Given the description of an element on the screen output the (x, y) to click on. 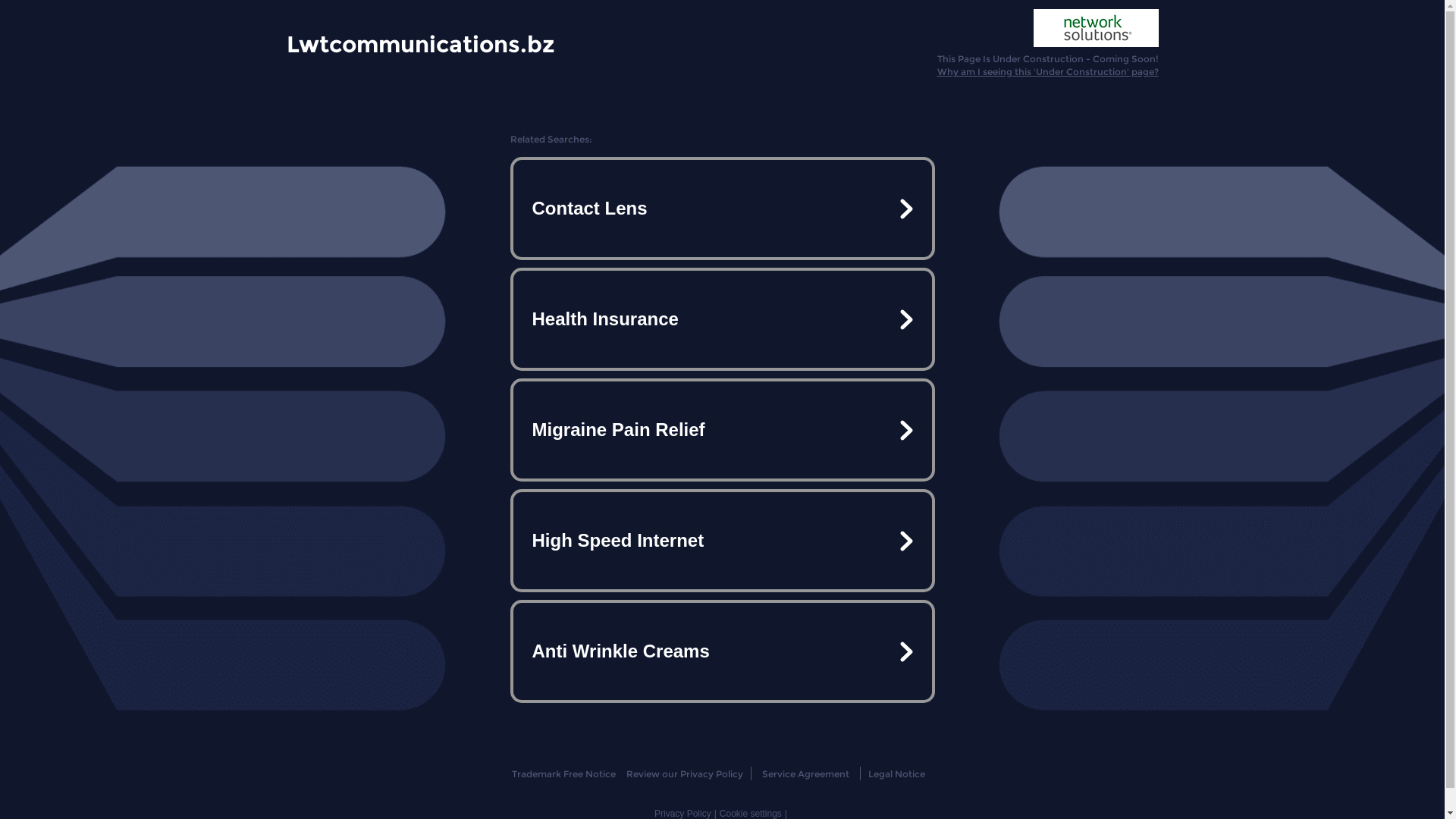
Why am I seeing this 'Under Construction' page? Element type: text (1047, 71)
Health Insurance Element type: text (721, 318)
Migraine Pain Relief Element type: text (721, 429)
Legal Notice Element type: text (896, 773)
Contact Lens Element type: text (721, 208)
High Speed Internet Element type: text (721, 540)
Trademark Free Notice Element type: text (563, 773)
Review our Privacy Policy Element type: text (684, 773)
Service Agreement Element type: text (805, 773)
Lwtcommunications.bz Element type: text (420, 43)
Anti Wrinkle Creams Element type: text (721, 650)
